Given the description of an element on the screen output the (x, y) to click on. 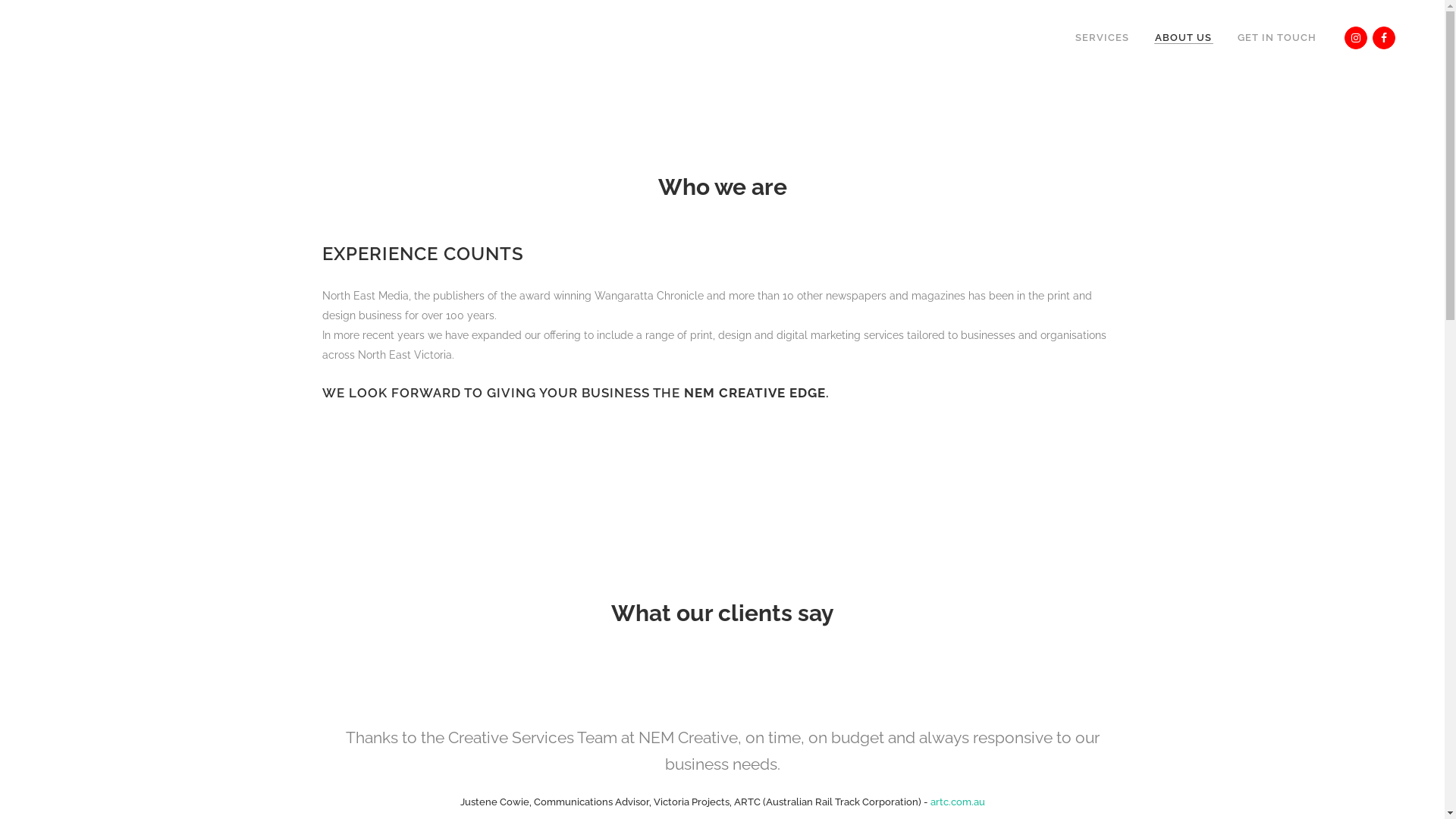
ABOUT US Element type: text (1183, 37)
NEM Creative Element type: text (701, 798)
Terms and Conditions Element type: text (779, 798)
SERVICES Element type: text (1102, 37)
GET IN TOUCH Element type: text (1276, 37)
